Given the description of an element on the screen output the (x, y) to click on. 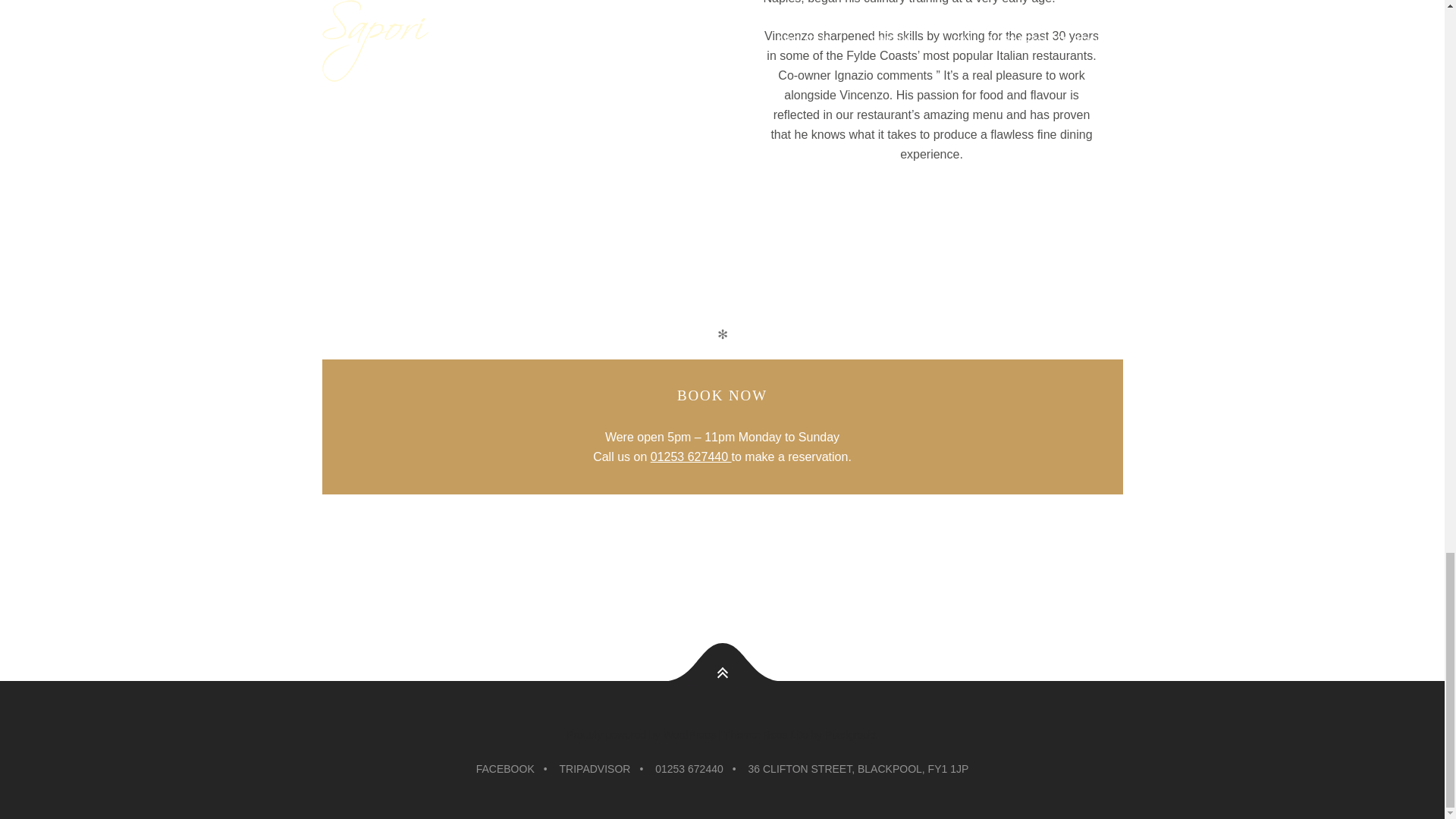
36 CLIFTON STREET, BLACKPOOL, FY1 1JP (859, 768)
Pixelgrade (850, 734)
01253 627440 (691, 458)
FACEBOOK (504, 768)
Proudly powered by WordPress (641, 734)
TRIPADVISOR (594, 768)
The Pixelgrade Website (850, 734)
01253 672440 (689, 768)
